Given the description of an element on the screen output the (x, y) to click on. 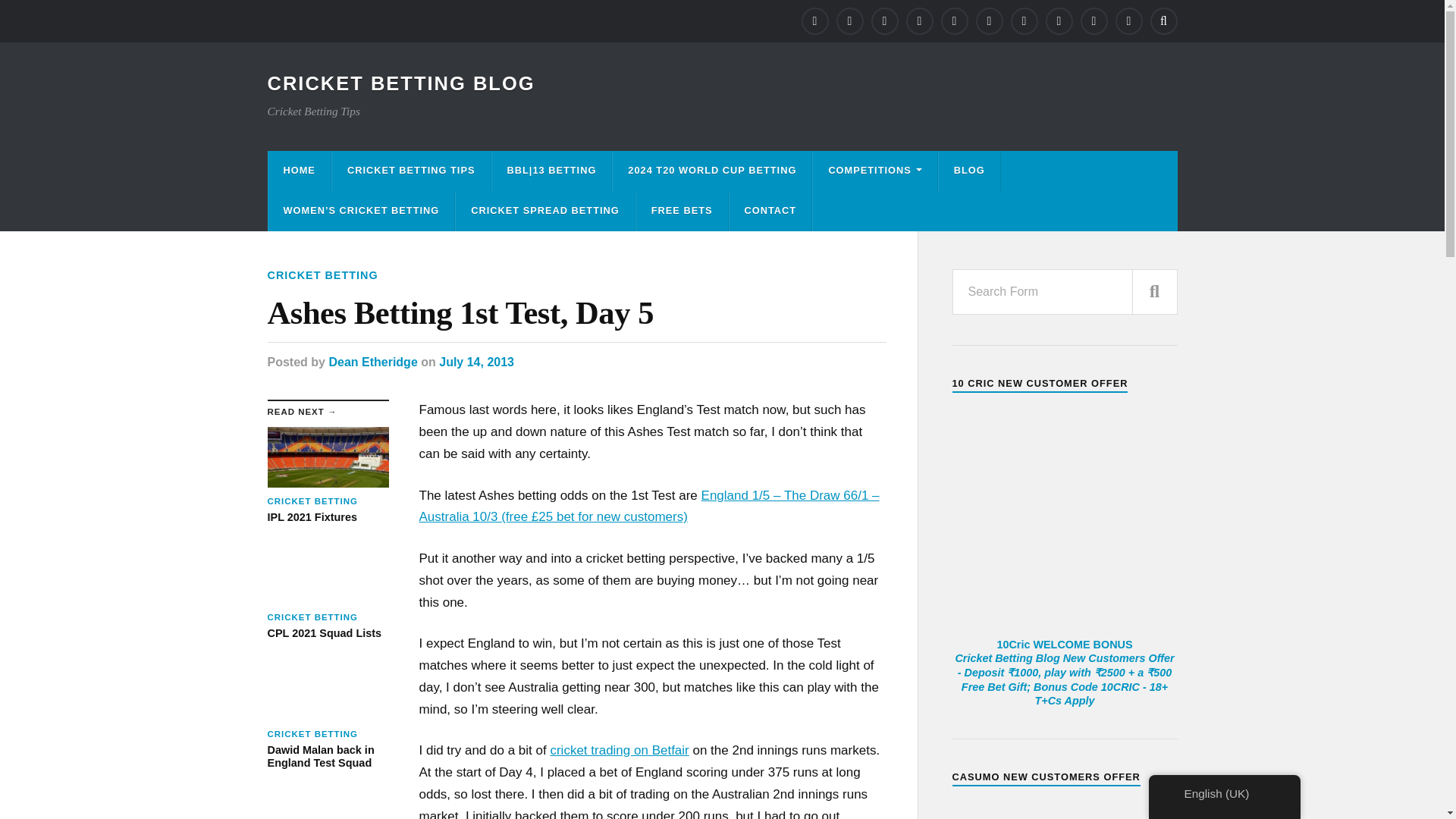
2024 T20 WORLD CUP BETTING (711, 170)
CRICKET SPREAD BETTING (544, 210)
CRICKET BETTING BLOG (400, 83)
BLOG (969, 170)
HOME (298, 170)
FREE BETS (682, 210)
COMPETITIONS (874, 170)
CRICKET BETTING TIPS (410, 170)
CONTACT (770, 210)
